Given the description of an element on the screen output the (x, y) to click on. 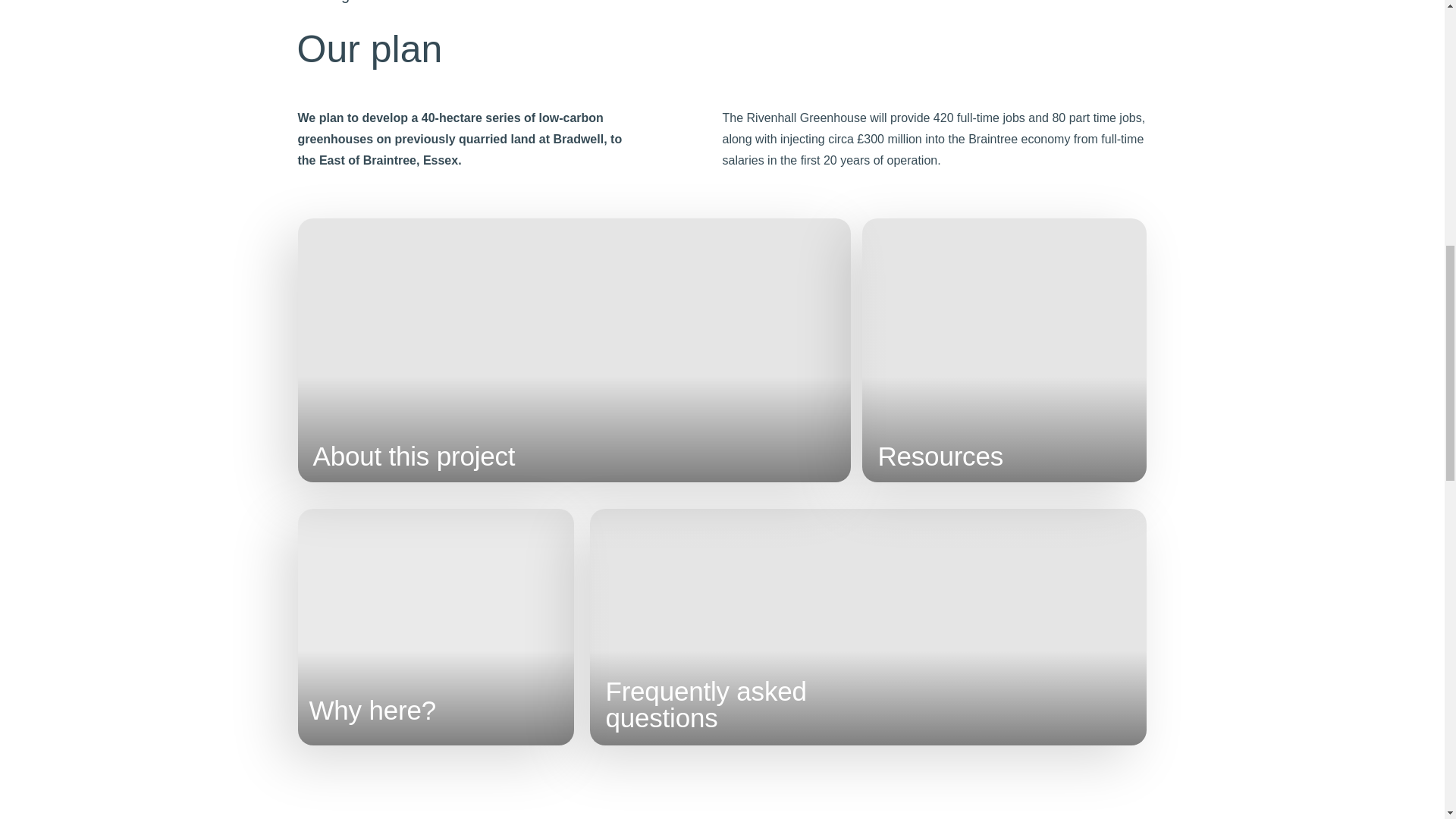
Resources (940, 455)
About this project (705, 704)
Why here? (414, 455)
